Given the description of an element on the screen output the (x, y) to click on. 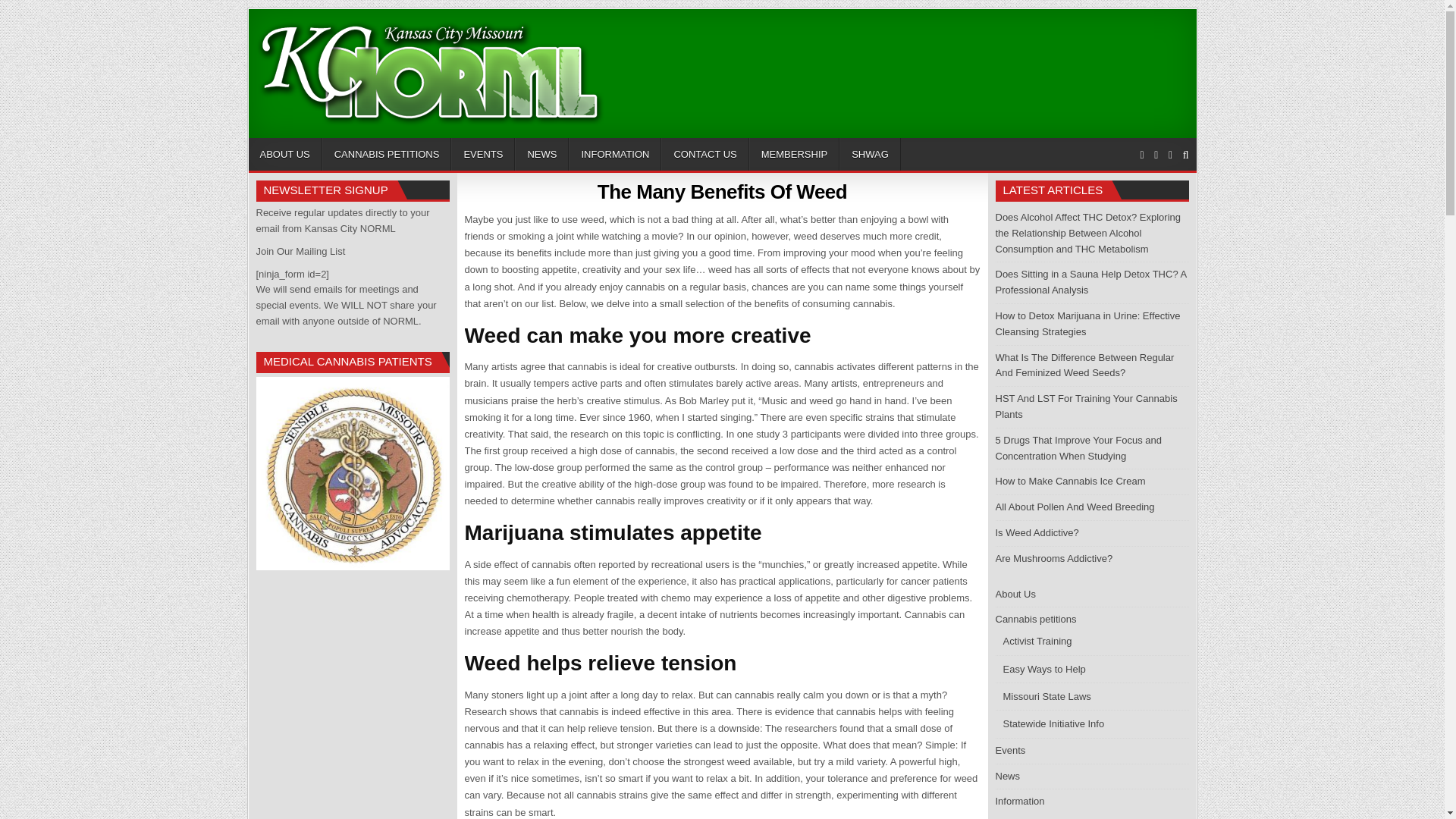
EVENTS (483, 154)
SHWAG (870, 154)
INFORMATION (615, 154)
The Many Benefits Of Weed (721, 191)
CONTACT US (704, 154)
NEWS (542, 154)
MEMBERSHIP (794, 154)
ABOUT US (284, 154)
HST And LST For Training Your Cannabis Plants (1085, 406)
CANNABIS PETITIONS (386, 154)
